Given the description of an element on the screen output the (x, y) to click on. 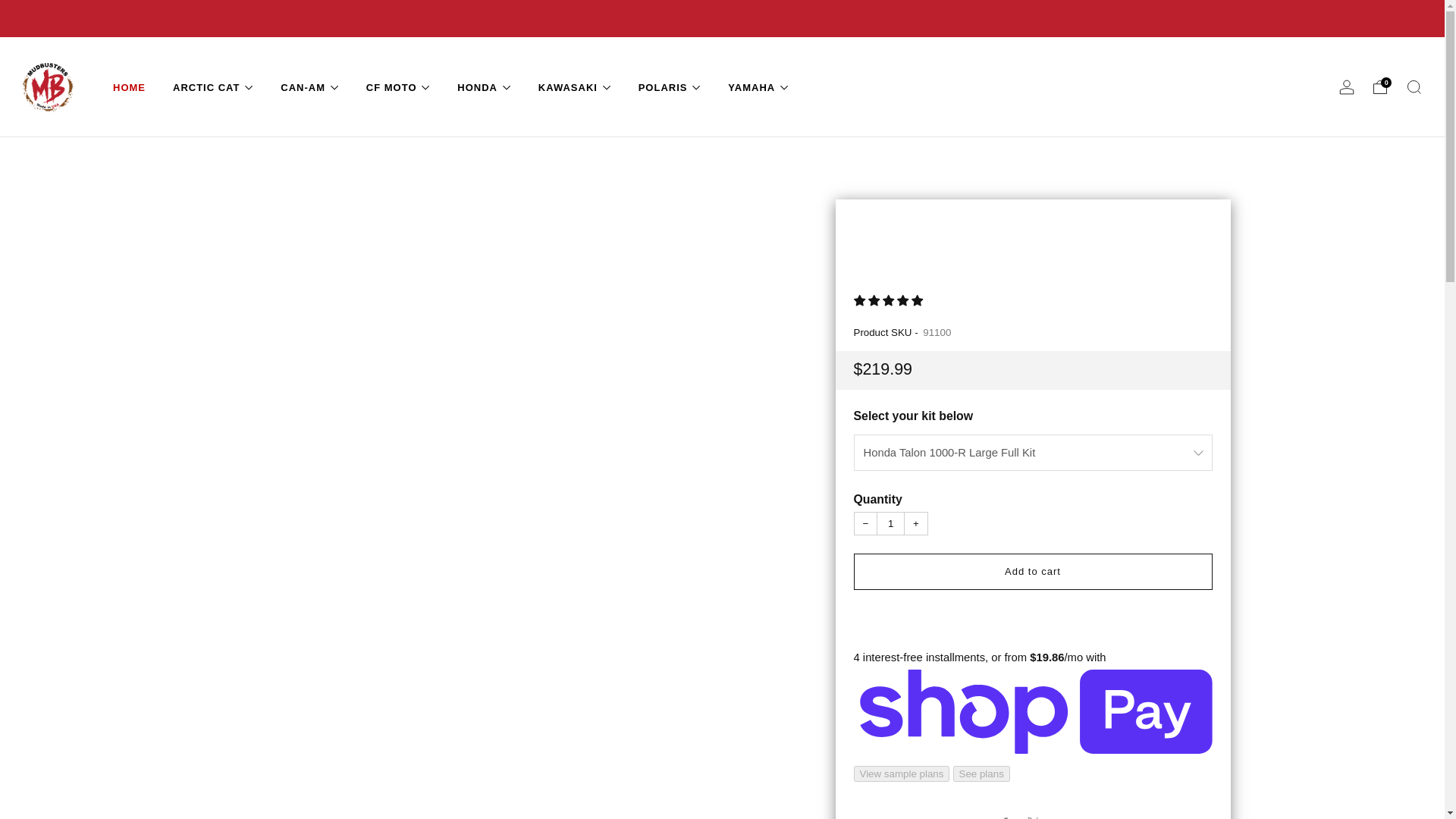
HOME (129, 86)
HONDA (484, 86)
CF MOTO (398, 86)
1 (890, 523)
ARCTIC CAT (213, 86)
CAN-AM (310, 86)
